Given the description of an element on the screen output the (x, y) to click on. 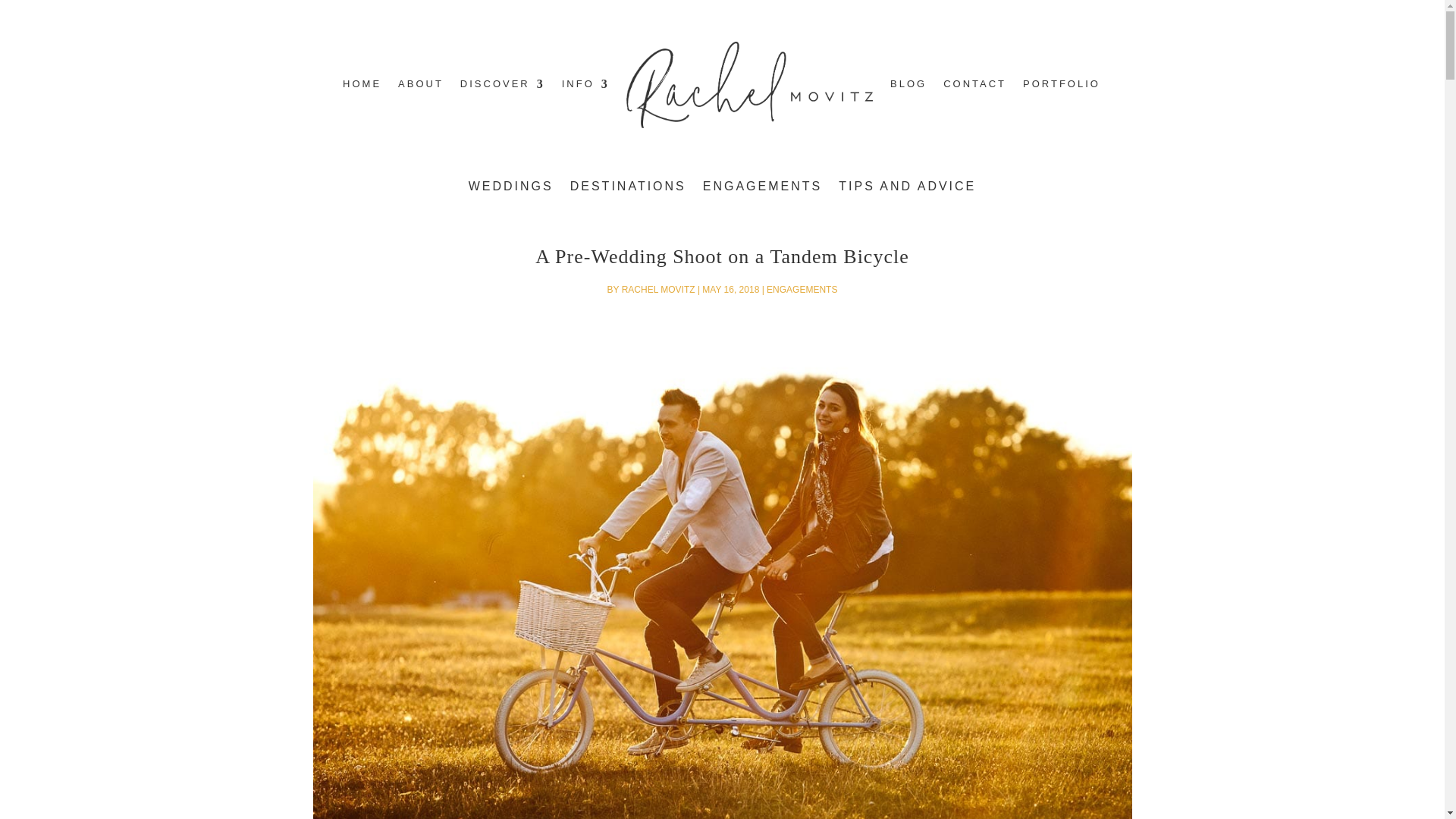
RACHEL MOVITZ (658, 289)
PORTFOLIO (1061, 117)
TIPS AND ADVICE (906, 196)
Posts by Rachel Movitz (658, 289)
ENGAGEMENTS (762, 196)
DESTINATIONS (627, 196)
WEDDINGS (510, 196)
DISCOVER (502, 117)
